Given the description of an element on the screen output the (x, y) to click on. 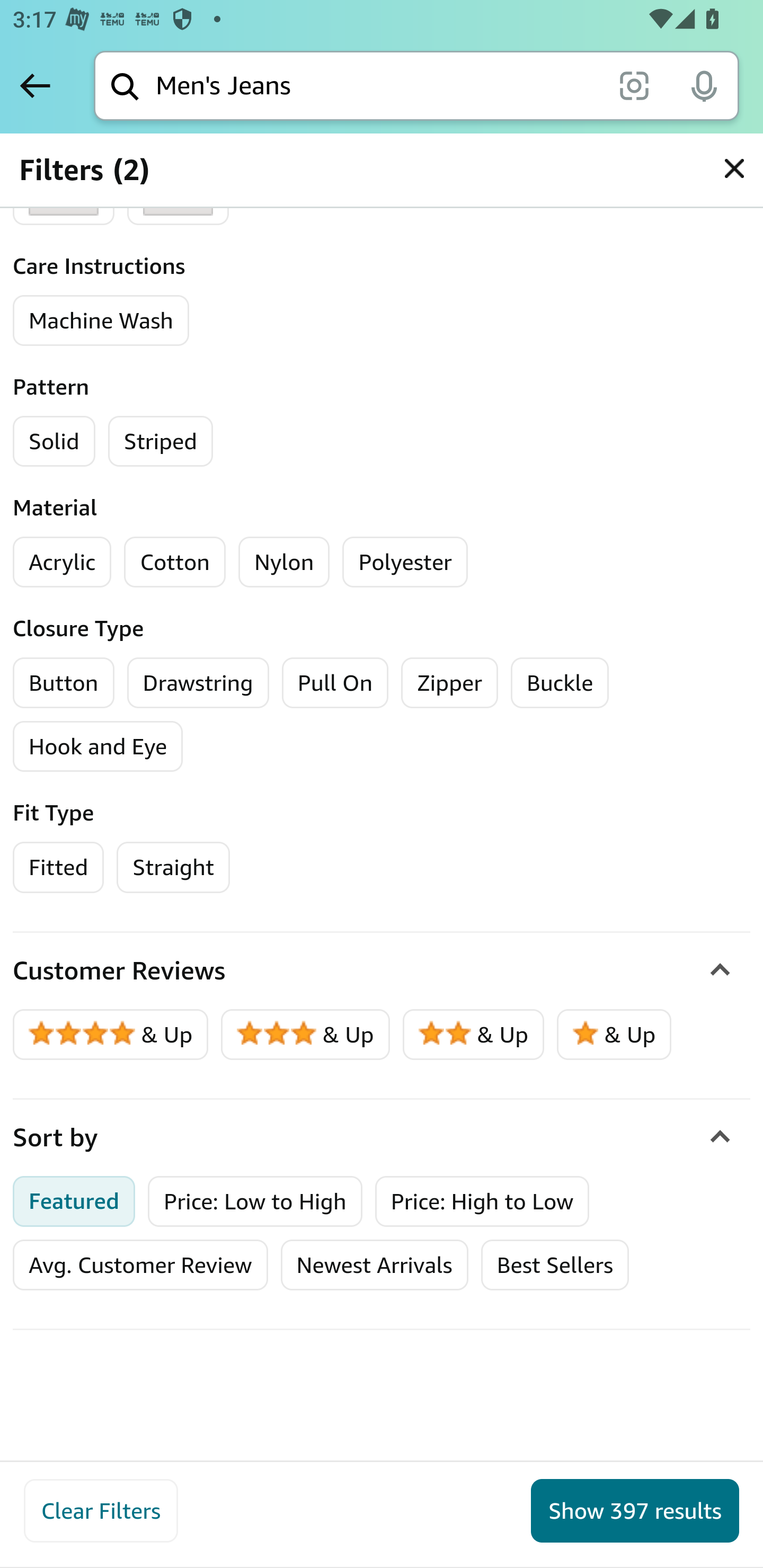
Back (35, 85)
scan it (633, 85)
Machine Wash (101, 320)
Solid (53, 441)
Striped (160, 441)
Acrylic (62, 562)
Cotton (174, 562)
Nylon (283, 562)
Polyester (405, 562)
Button (63, 682)
Drawstring (197, 682)
Pull On (335, 682)
Zipper (449, 682)
Buckle (560, 682)
Hook and Eye (98, 746)
Fitted (58, 866)
Straight (172, 866)
Customer Reviews (381, 970)
4 Stars & Up (110, 1033)
3 Stars & Up (305, 1033)
2 Stars & Up (473, 1033)
1 Star & Up (614, 1033)
Sort by (381, 1136)
Price: Low to High (255, 1200)
Price: High to Low (481, 1200)
Avg. Customer Review (140, 1265)
Newest Arrivals (374, 1265)
Best Sellers (554, 1265)
Clear Filters (100, 1510)
Show 397 results (635, 1510)
